Given the description of an element on the screen output the (x, y) to click on. 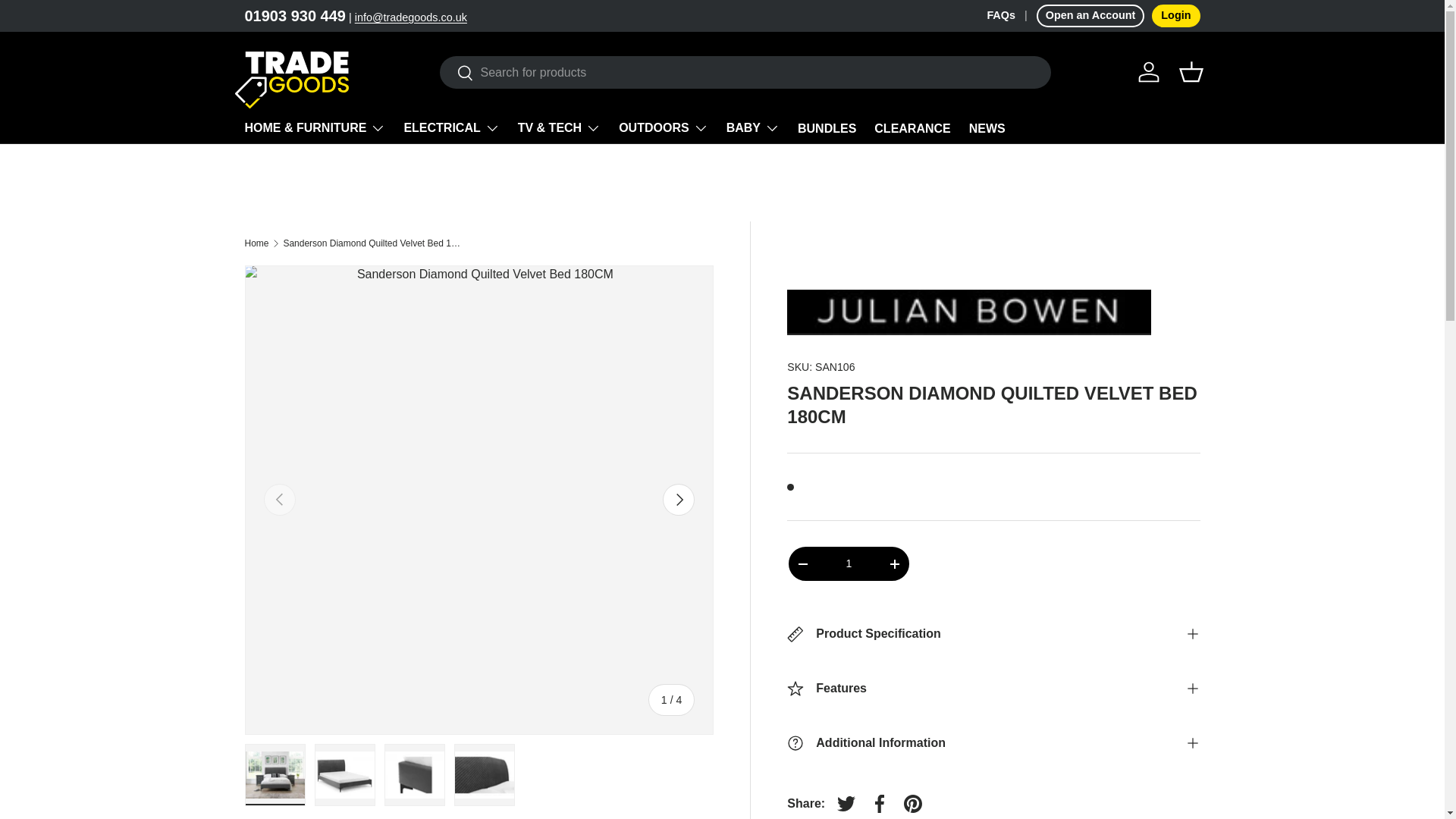
SKIP TO CONTENT (69, 21)
Log in (1147, 71)
1 (847, 563)
Login (1175, 15)
Search (456, 73)
Open an Account (1090, 15)
Basket (1190, 71)
FAQs (1011, 15)
